Given the description of an element on the screen output the (x, y) to click on. 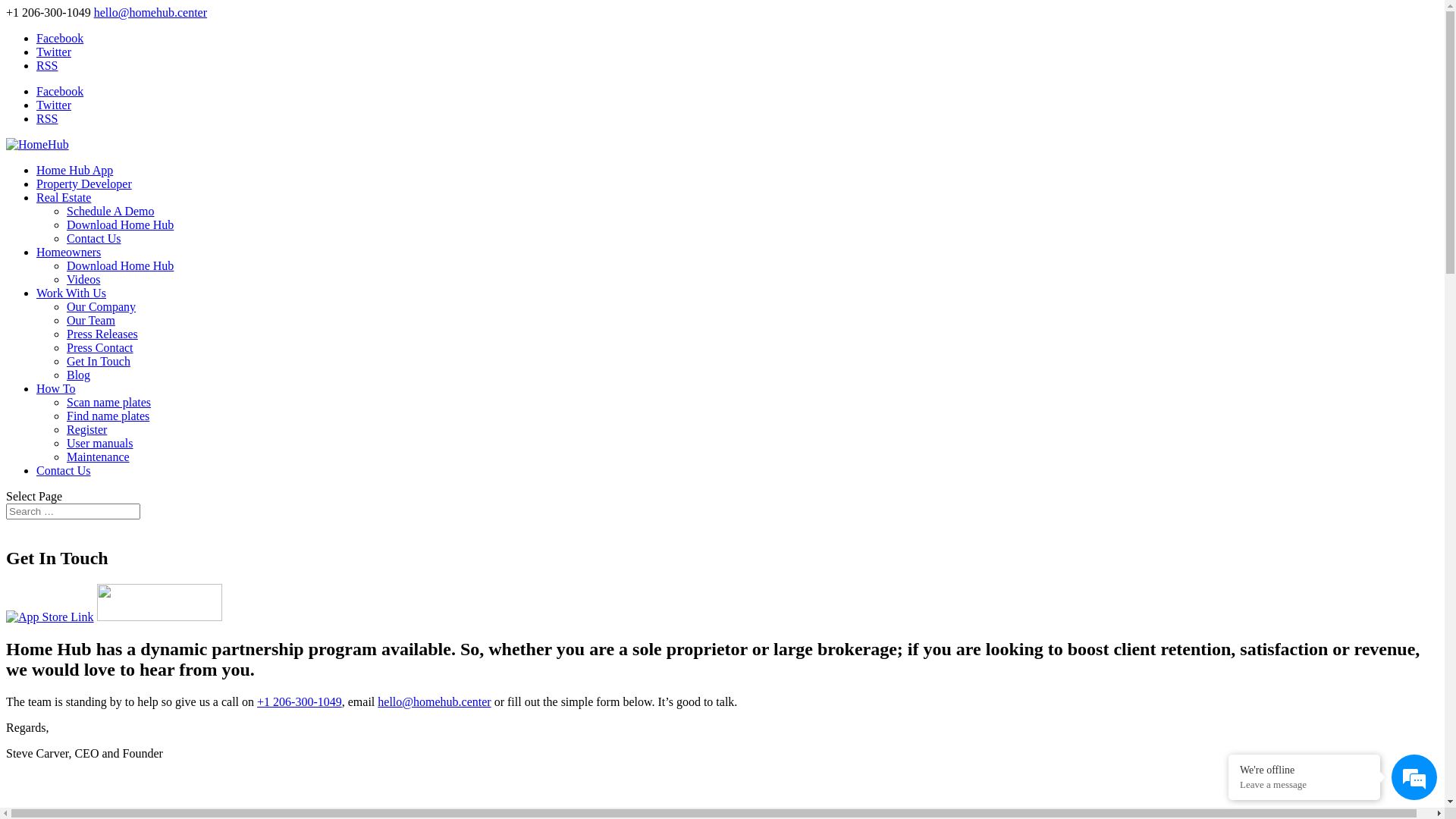
Download Home Hub Element type: text (119, 265)
Twitter Element type: text (53, 51)
Our Company Element type: text (100, 306)
Search for: Element type: hover (73, 511)
Press Releases Element type: text (102, 333)
Blog Element type: text (78, 374)
Schedule A Demo Element type: text (110, 210)
Facebook Element type: text (59, 90)
+1 206-300-1049 Element type: text (299, 701)
How To Element type: text (55, 388)
Facebook Element type: text (59, 37)
Download Home Hub Element type: text (119, 224)
hello@homehub.center Element type: text (433, 701)
Register Element type: text (86, 429)
RSS Element type: text (46, 118)
Contact Us Element type: text (63, 470)
Find name plates Element type: text (107, 415)
Videos Element type: text (83, 279)
User manuals Element type: text (99, 442)
Twitter Element type: text (53, 104)
RSS Element type: text (46, 65)
Maintenance Element type: text (97, 456)
Property Developer Element type: text (83, 183)
Homeowners Element type: text (68, 251)
Get In Touch Element type: text (98, 360)
Scan name plates Element type: text (108, 401)
Home Hub App Element type: text (74, 169)
Work With Us Element type: text (71, 292)
hello@homehub.center Element type: text (150, 12)
Contact Us Element type: text (93, 238)
Our Team Element type: text (90, 319)
Real Estate Element type: text (63, 197)
Press Contact Element type: text (99, 347)
